Given the description of an element on the screen output the (x, y) to click on. 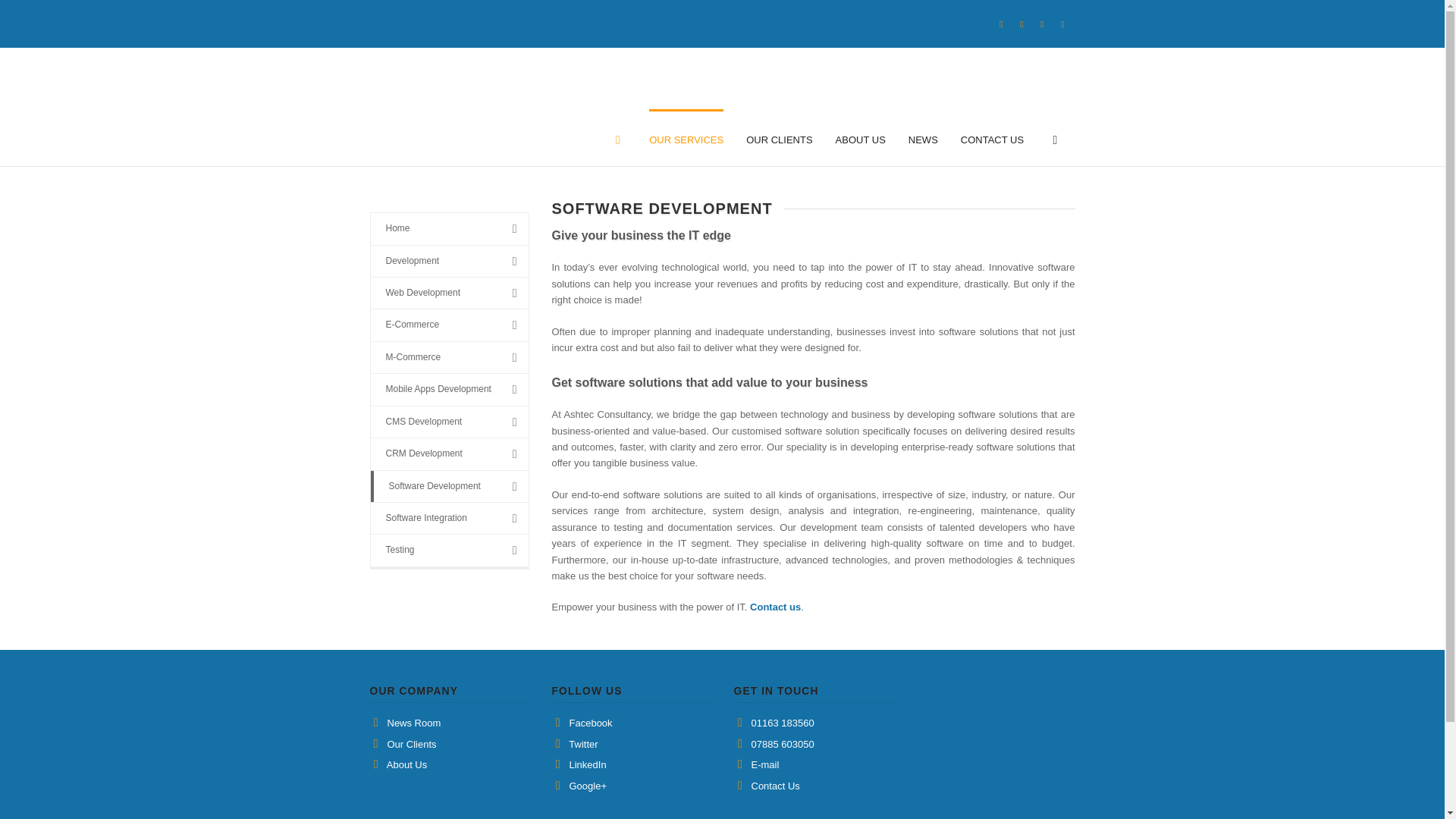
e-mail (764, 764)
Our Clients (411, 744)
Contact Us (774, 606)
Twitter (1062, 23)
Linkedin (1042, 23)
AboutUs (406, 764)
Facebook (590, 722)
Facebook (1001, 23)
News Room (414, 722)
Telephone (782, 722)
